Given the description of an element on the screen output the (x, y) to click on. 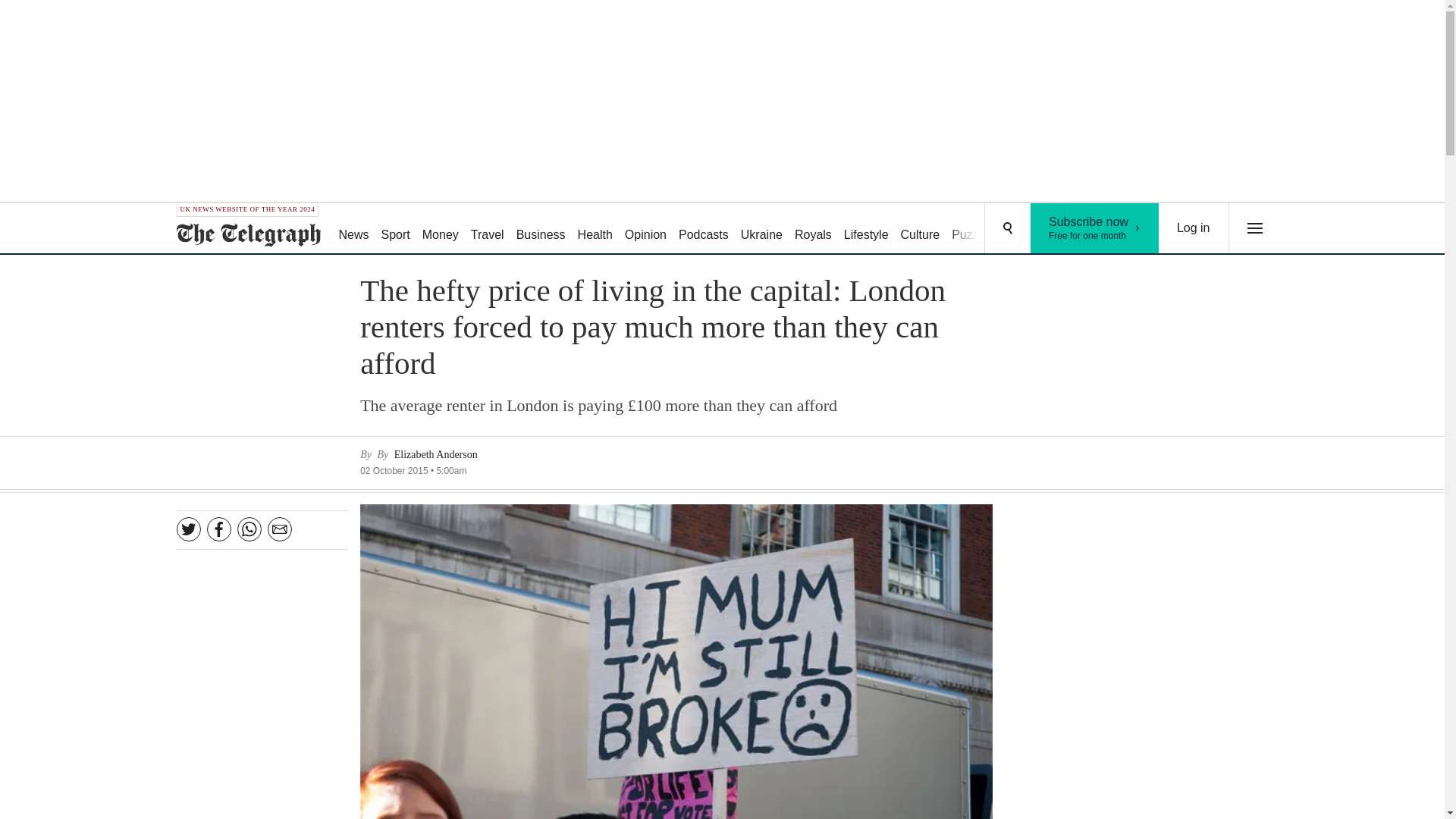
Lifestyle (866, 228)
Sport (395, 228)
Travel (487, 228)
Business (541, 228)
Opinion (645, 228)
News (352, 228)
Health (595, 228)
Culture (1094, 228)
Puzzles (920, 228)
Money (972, 228)
Podcasts (440, 228)
Ukraine (703, 228)
Royals (762, 228)
Log in (813, 228)
